Given the description of an element on the screen output the (x, y) to click on. 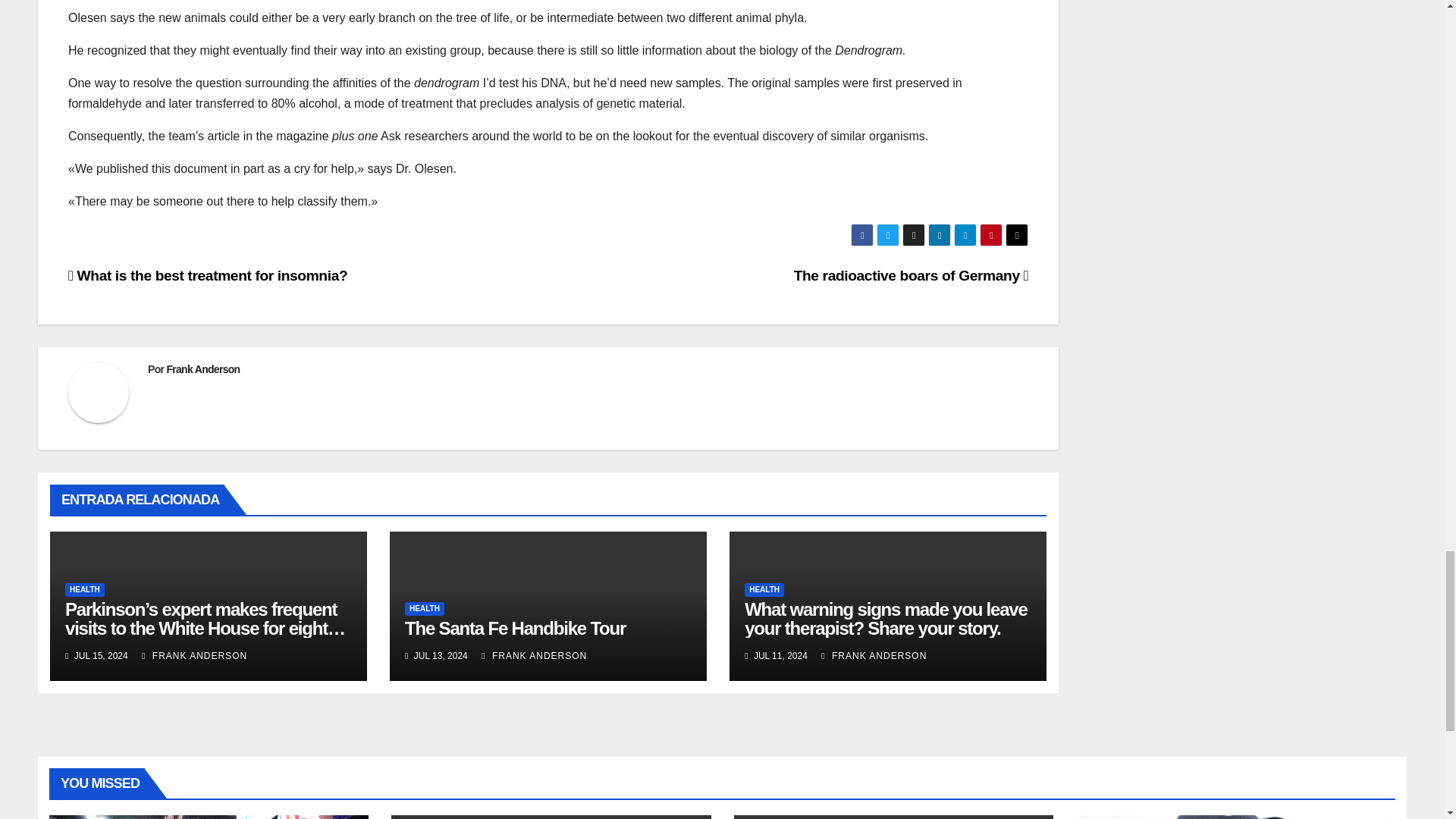
Frank Anderson (202, 369)
The Santa Fe Handbike Tour (515, 628)
Permalink to: The Santa Fe Handbike Tour (515, 628)
FRANK ANDERSON (194, 655)
HEALTH (84, 590)
The radioactive boars of Germany (911, 275)
FRANK ANDERSON (533, 655)
What is the best treatment for insomnia? (207, 275)
HEALTH (764, 590)
HEALTH (424, 608)
